Given the description of an element on the screen output the (x, y) to click on. 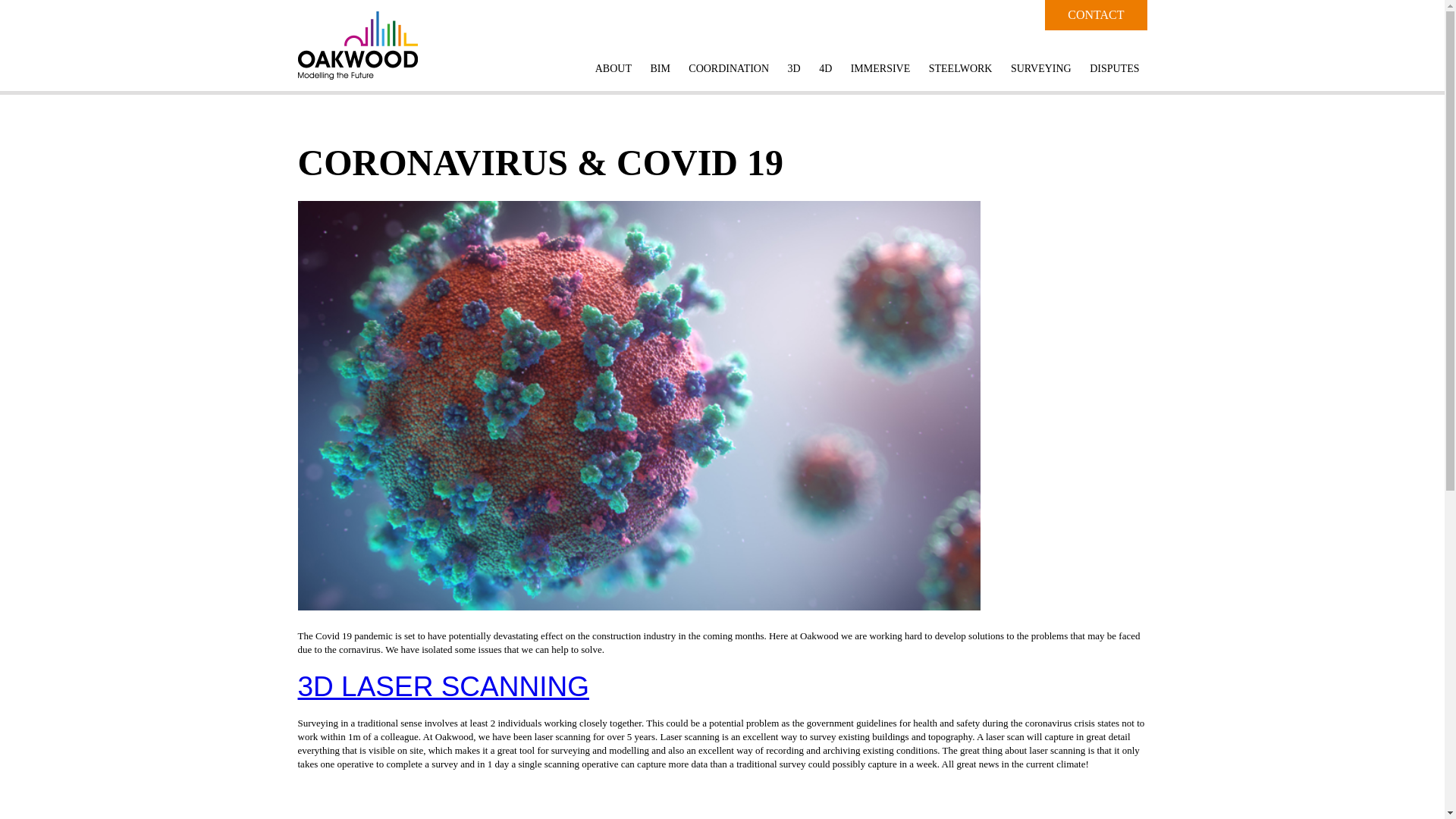
COORDINATION (728, 70)
BIM (659, 70)
ABOUT (613, 70)
DISPUTES (1113, 70)
IMMERSIVE (880, 70)
BIM (659, 70)
INSITE (342, 816)
CONTACT (1096, 15)
ABOUT (613, 70)
3D LASER SCANNING (443, 685)
SURVEYING (1040, 70)
COORDINATION (728, 70)
STEELWORK (960, 70)
SURVEYING (1040, 70)
CONTACT (1096, 15)
